Given the description of an element on the screen output the (x, y) to click on. 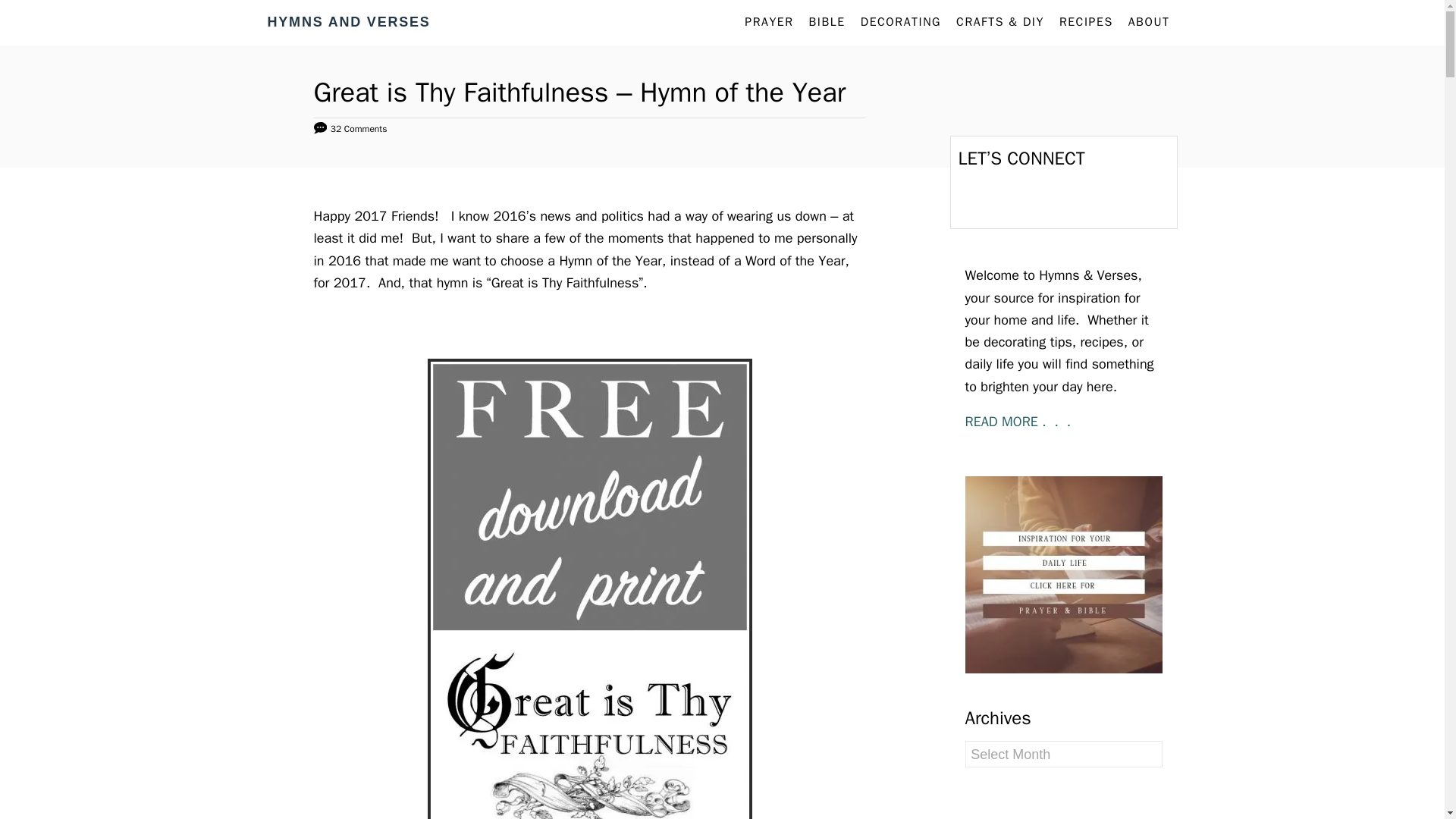
BIBLE (827, 22)
DECORATING (901, 22)
Hymns and Verses (403, 22)
RECIPES (1086, 22)
PRAYER (768, 22)
ABOUT (1149, 22)
HYMNS AND VERSES (403, 22)
READ MORE .  .  .  (1018, 421)
